Given the description of an element on the screen output the (x, y) to click on. 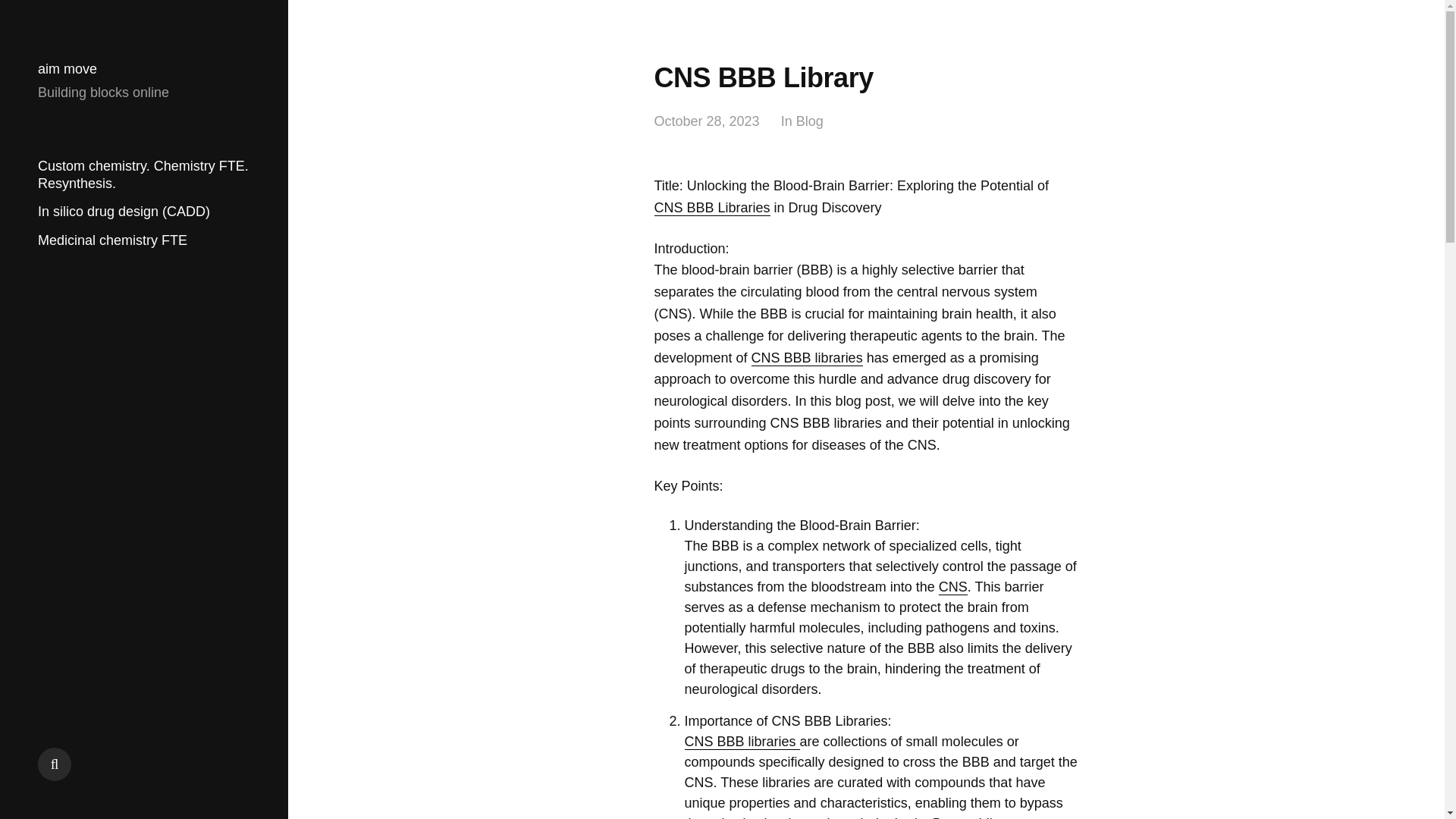
CNS BBB libraries (807, 358)
CNS BBB Libraries (711, 207)
Medicinal chemistry FTE (112, 239)
aim move (67, 68)
Custom chemistry. Chemistry FTE. Resynthesis. (142, 174)
CNS (953, 587)
Blog (810, 121)
CNS BBB libraries (741, 741)
October 28, 2023 (705, 121)
